Given the description of an element on the screen output the (x, y) to click on. 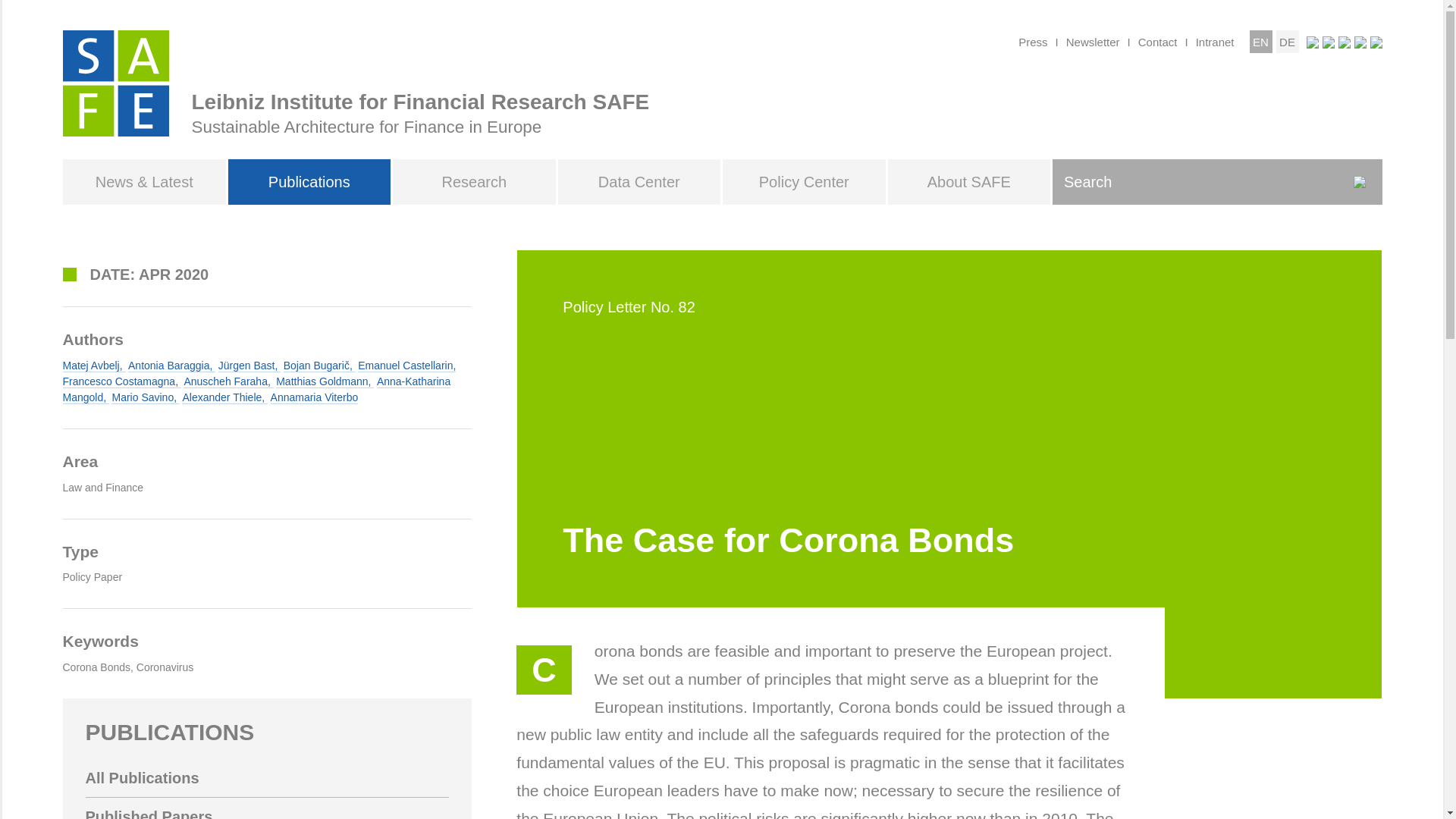
Contact (1157, 41)
Intranet (1214, 41)
All Publications (266, 777)
Press (1031, 41)
Newsletter (1092, 41)
Published Papers (266, 808)
